Given the description of an element on the screen output the (x, y) to click on. 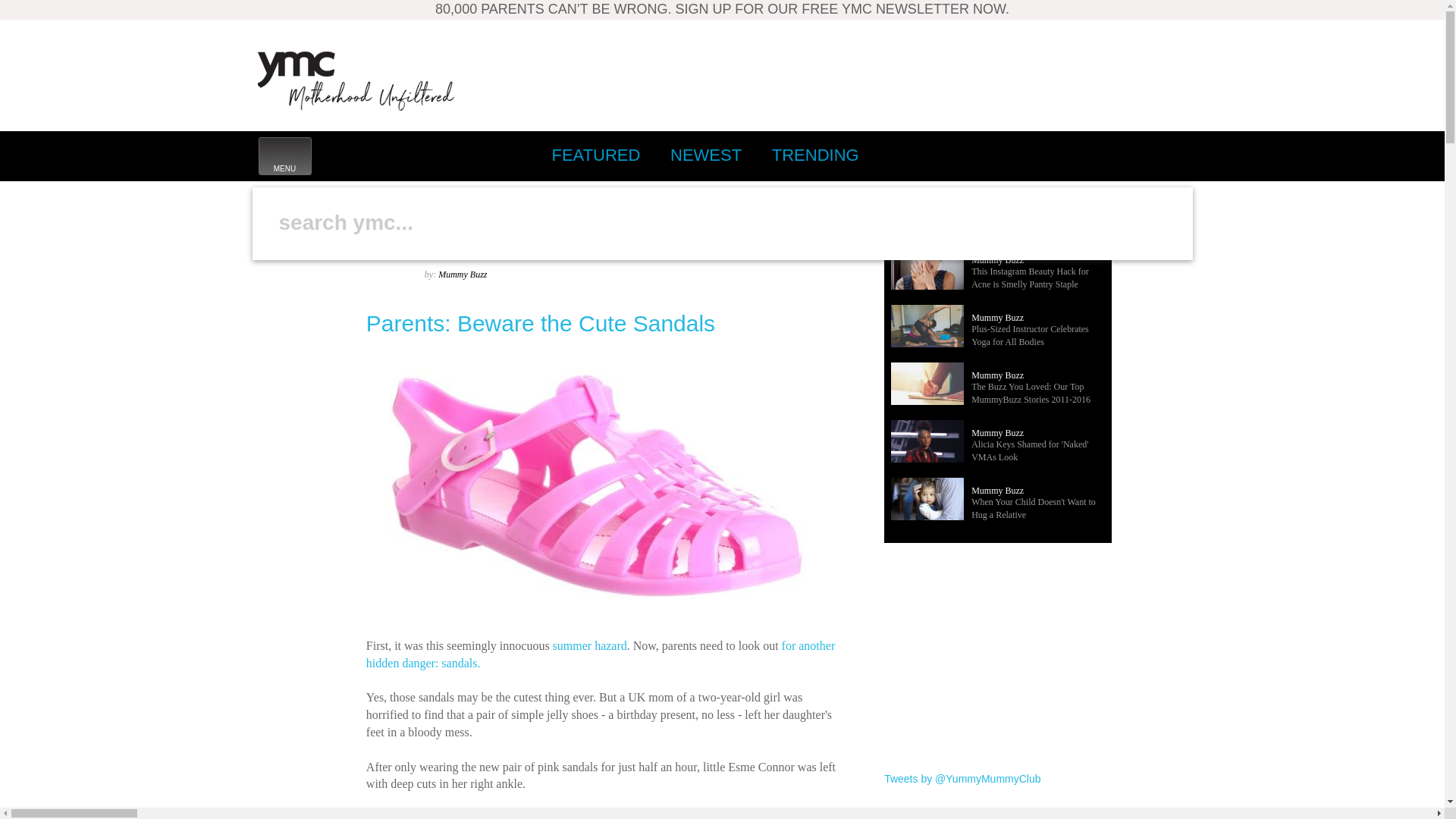
Pinterest (1068, 154)
YouTube (1168, 154)
NEWEST (284, 156)
FEATURED (705, 155)
Facebook (595, 155)
Twitter (1001, 154)
TRENDING (1135, 154)
Enter the terms you wish to search for. (815, 155)
SEARCH (704, 222)
Skip to main content (591, 205)
Instagram (275, 276)
Home (1034, 154)
RSS (355, 79)
